Given the description of an element on the screen output the (x, y) to click on. 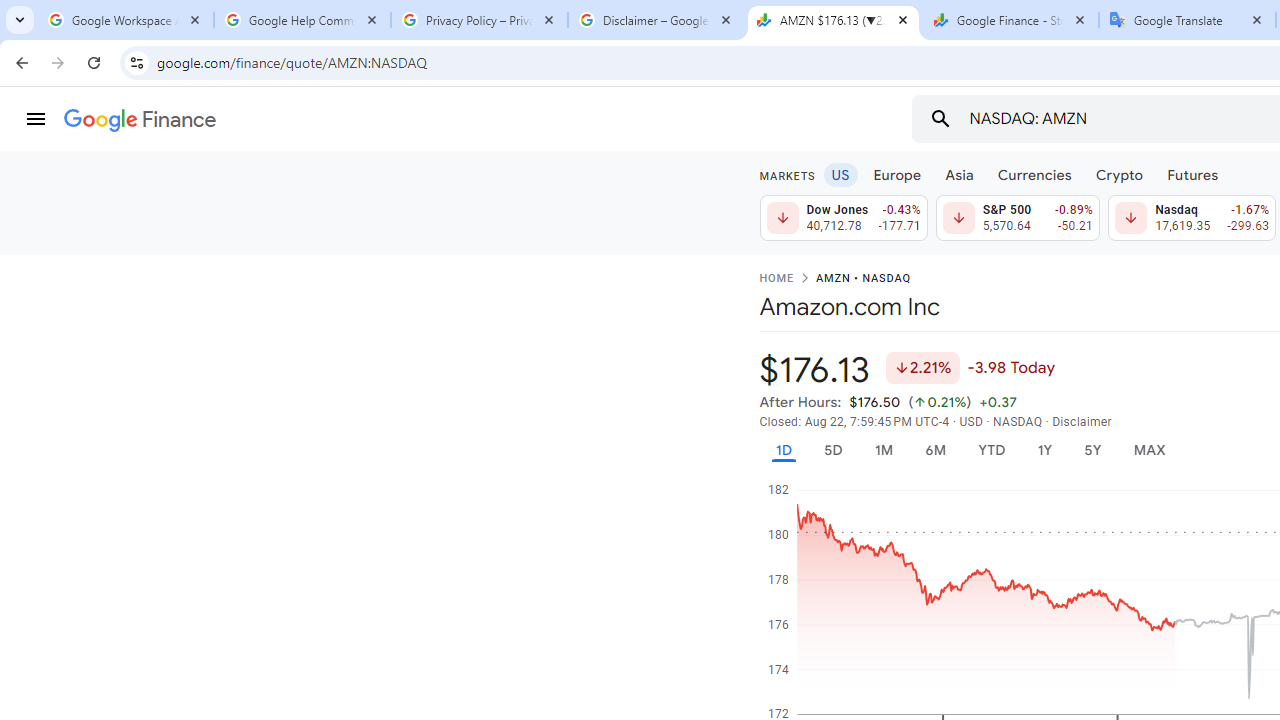
Crypto (1119, 174)
US (840, 174)
MAX (1149, 449)
Google Workspace Admin Community (125, 20)
Nasdaq 17,619.35 Down by 1.67% -299.63 (1192, 218)
Asia (958, 174)
5Y (1092, 449)
Currencies (1034, 174)
